Given the description of an element on the screen output the (x, y) to click on. 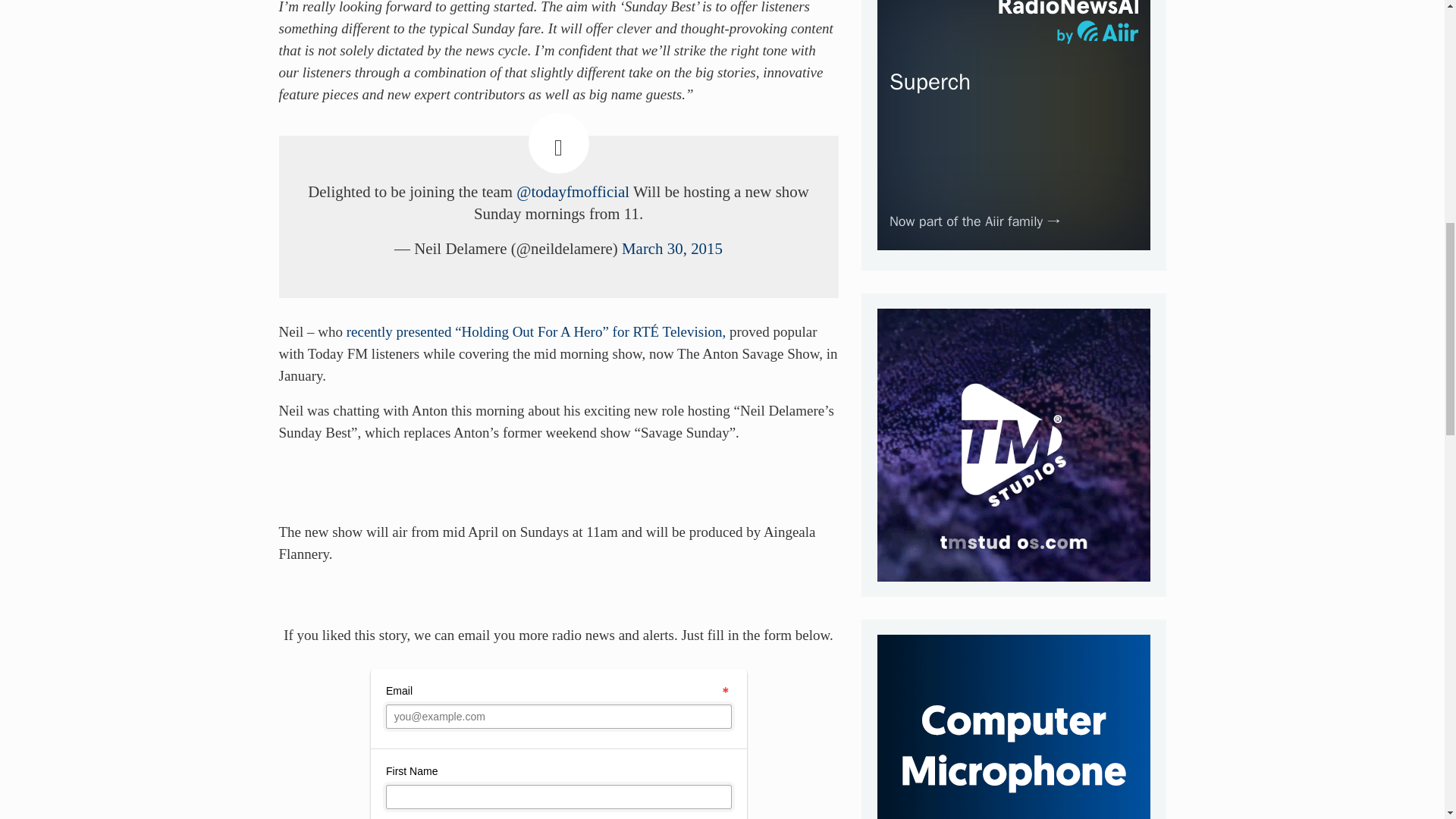
March 30, 2015 (671, 248)
